Given the description of an element on the screen output the (x, y) to click on. 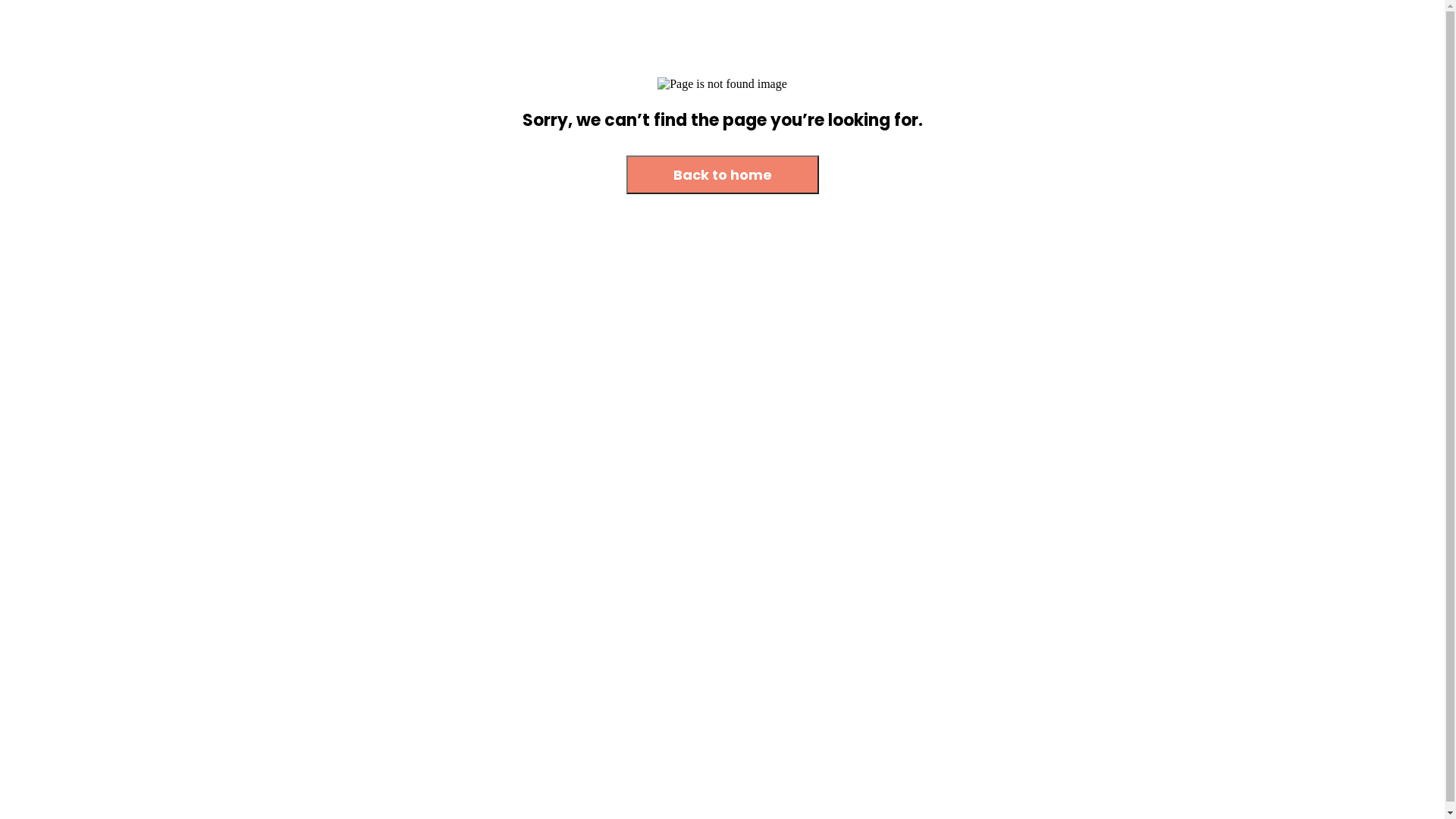
Back to home Element type: text (722, 175)
Back to home Element type: text (722, 174)
